Given the description of an element on the screen output the (x, y) to click on. 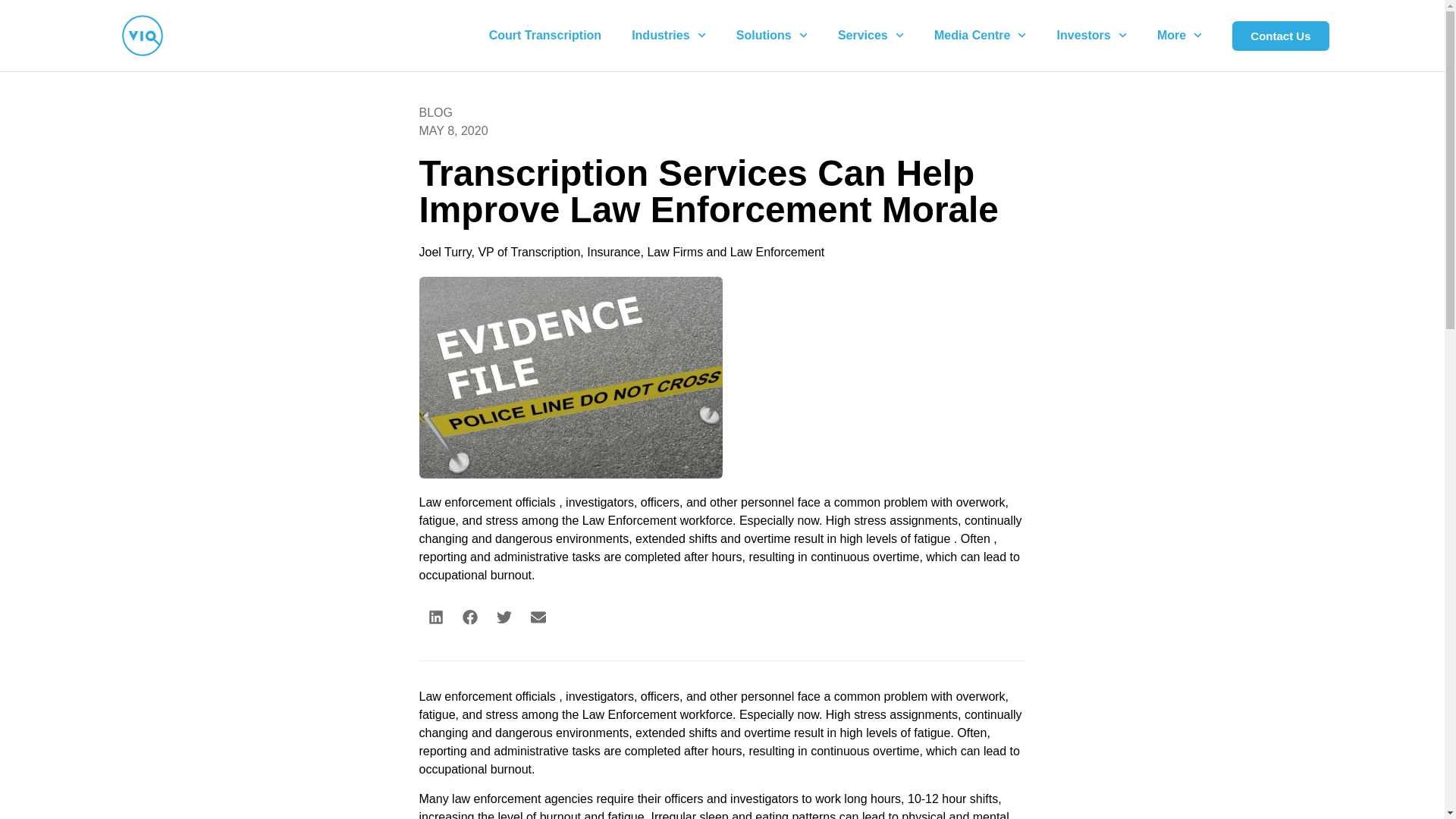
Media Centre (980, 35)
Court Transcription (544, 35)
Solutions (771, 35)
Industries (667, 35)
Services (870, 35)
More (1179, 35)
Investors (1091, 35)
